Given the description of an element on the screen output the (x, y) to click on. 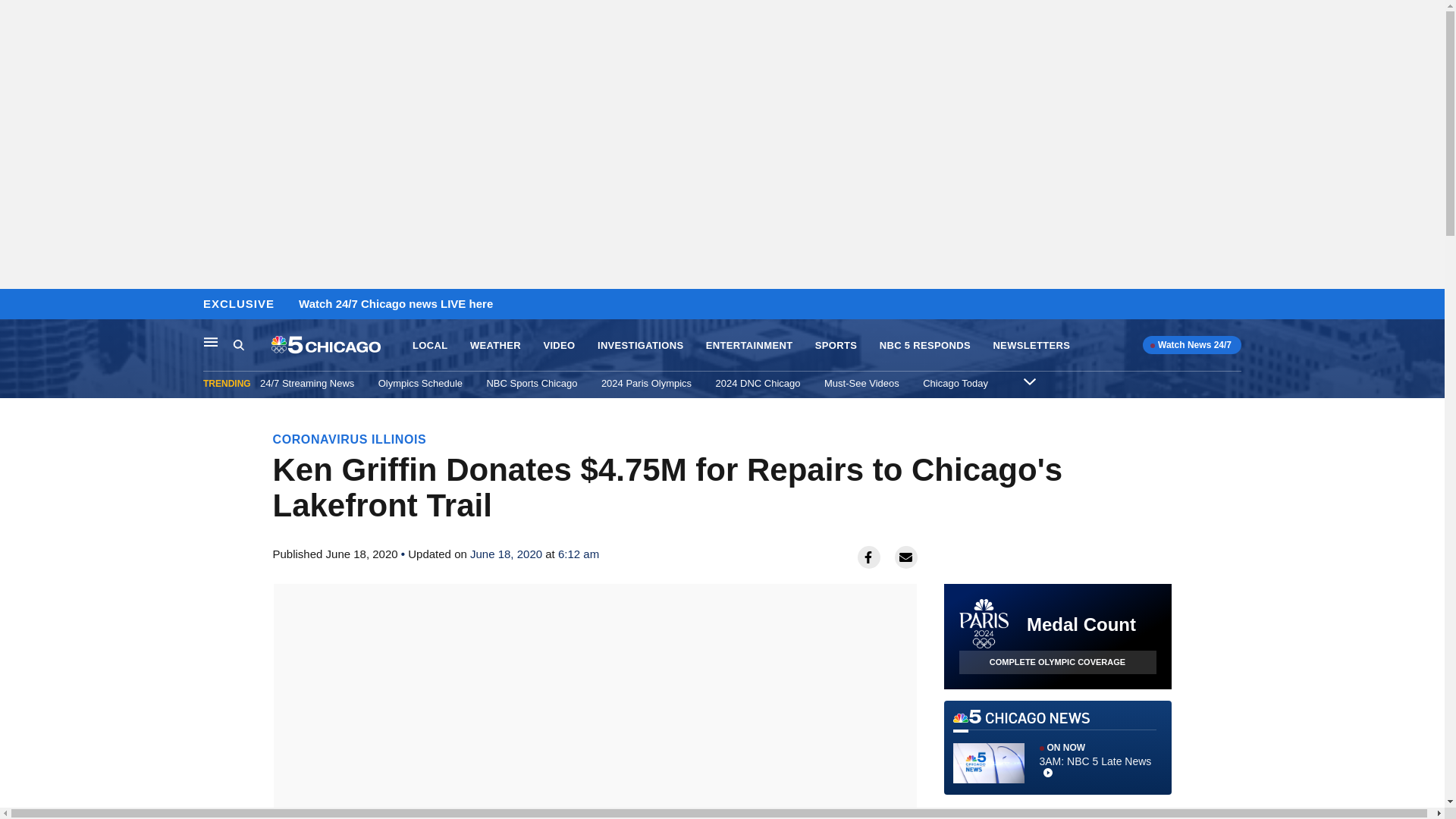
NEWSLETTERS (1031, 345)
CORONAVIRUS ILLINOIS (349, 439)
Skip to content (16, 304)
2024 Paris Olympics (646, 383)
ENTERTAINMENT (749, 345)
LOCAL (429, 345)
Olympics Schedule (420, 383)
SPORTS (836, 345)
COMPLETE OLYMPIC COVERAGE (1057, 662)
NBC 5 RESPONDS (925, 345)
WEATHER (495, 345)
NBC Sports Chicago (531, 383)
Main Navigation (210, 341)
Chicago Today (955, 383)
